Given the description of an element on the screen output the (x, y) to click on. 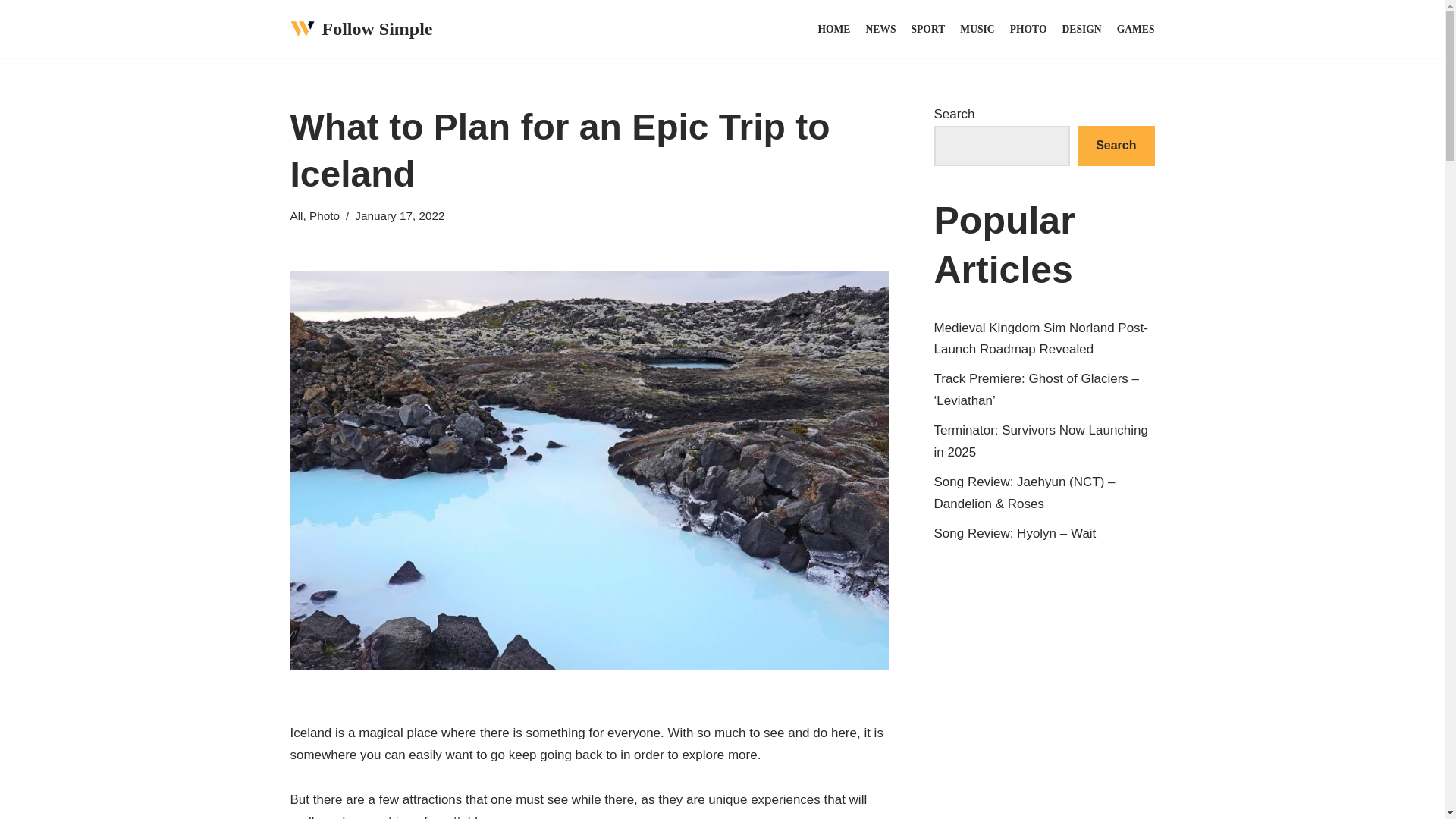
SPORT (927, 28)
NEWS (879, 28)
Search (1115, 146)
GAMES (1135, 28)
DESIGN (1082, 28)
HOME (833, 28)
Skip to content (11, 31)
Medieval Kingdom Sim Norland Post-Launch Roadmap Revealed (1041, 339)
Follow Simple (360, 29)
PHOTO (1028, 28)
